Given the description of an element on the screen output the (x, y) to click on. 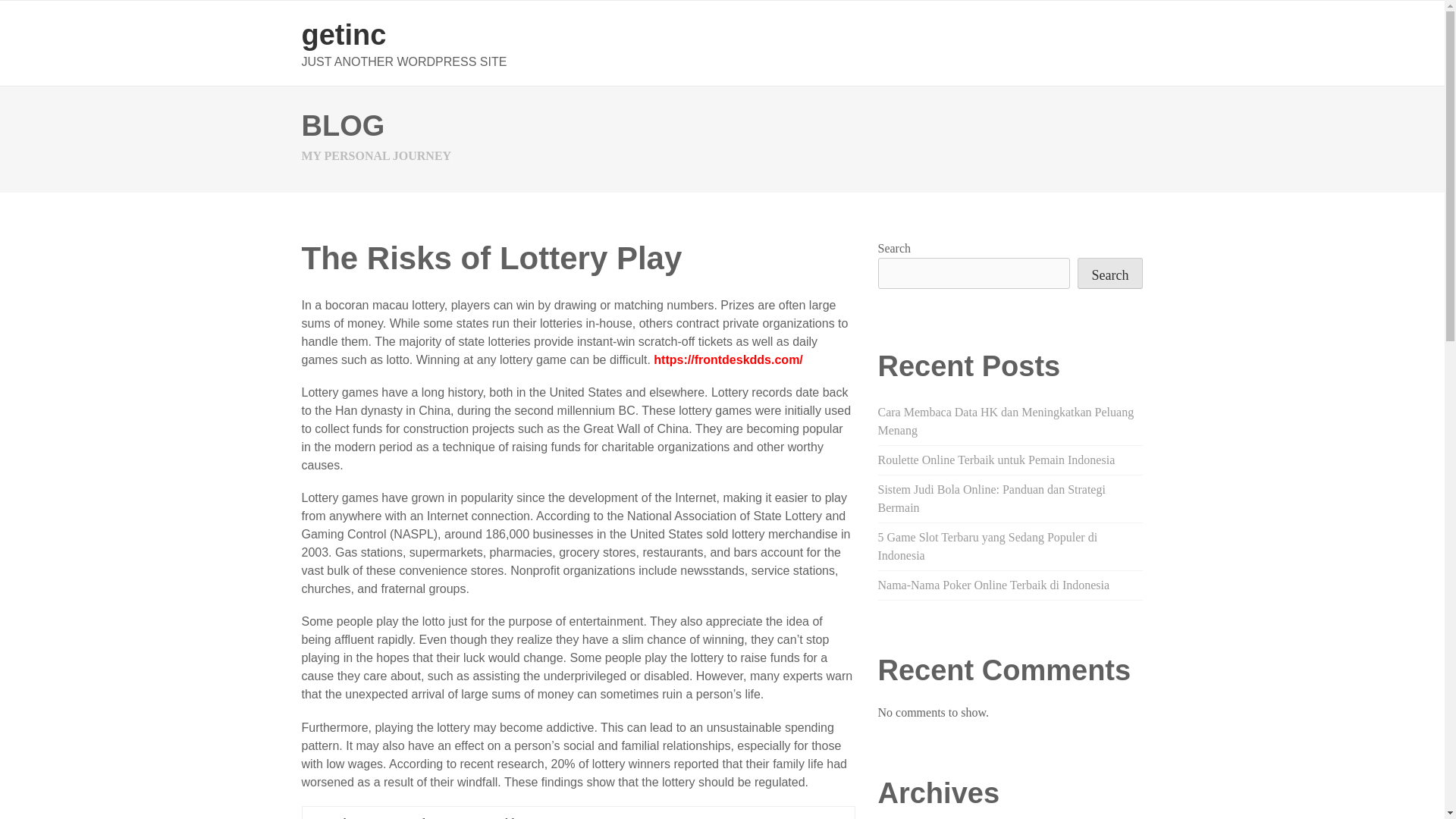
Search (1109, 273)
Roulette Online Terbaik untuk Pemain Indonesia (996, 459)
Gambling (505, 817)
Sistem Judi Bola Online: Panduan dan Strategi Bermain (991, 498)
adminsss (435, 817)
getinc (344, 34)
Nama-Nama Poker Online Terbaik di Indonesia (993, 584)
5 Game Slot Terbaru yang Sedang Populer di Indonesia (987, 545)
March 28, 2024 (355, 817)
Cara Membaca Data HK dan Meningkatkan Peluang Menang (1005, 420)
